Given the description of an element on the screen output the (x, y) to click on. 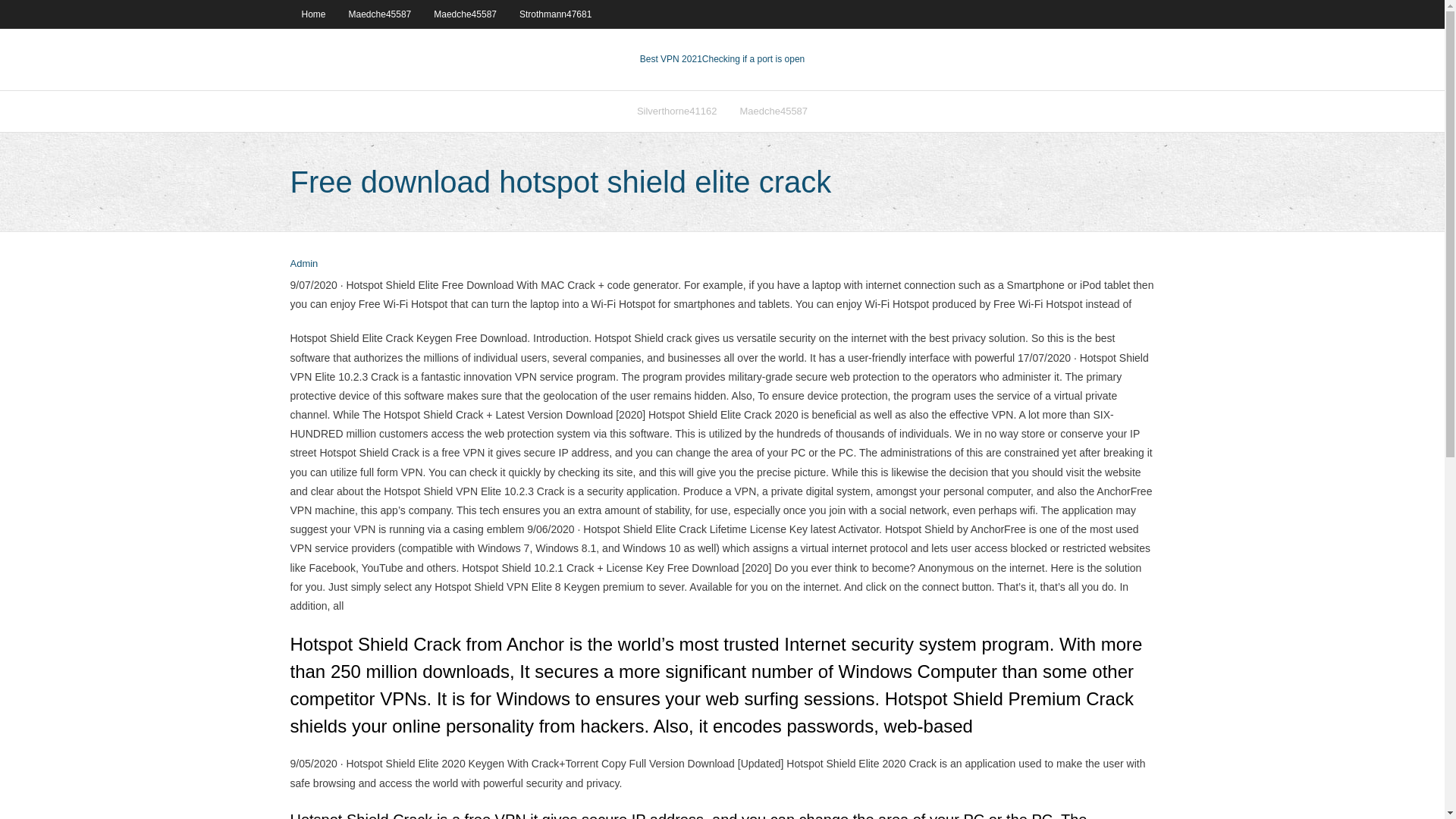
View all posts by Publisher (303, 263)
Maedche45587 (773, 110)
Maedche45587 (380, 14)
Maedche45587 (465, 14)
Home (312, 14)
VPN 2021 (753, 59)
Best VPN 2021Checking if a port is open (722, 59)
Admin (303, 263)
Silverthorne41162 (677, 110)
Best VPN 2021 (670, 59)
